Given the description of an element on the screen output the (x, y) to click on. 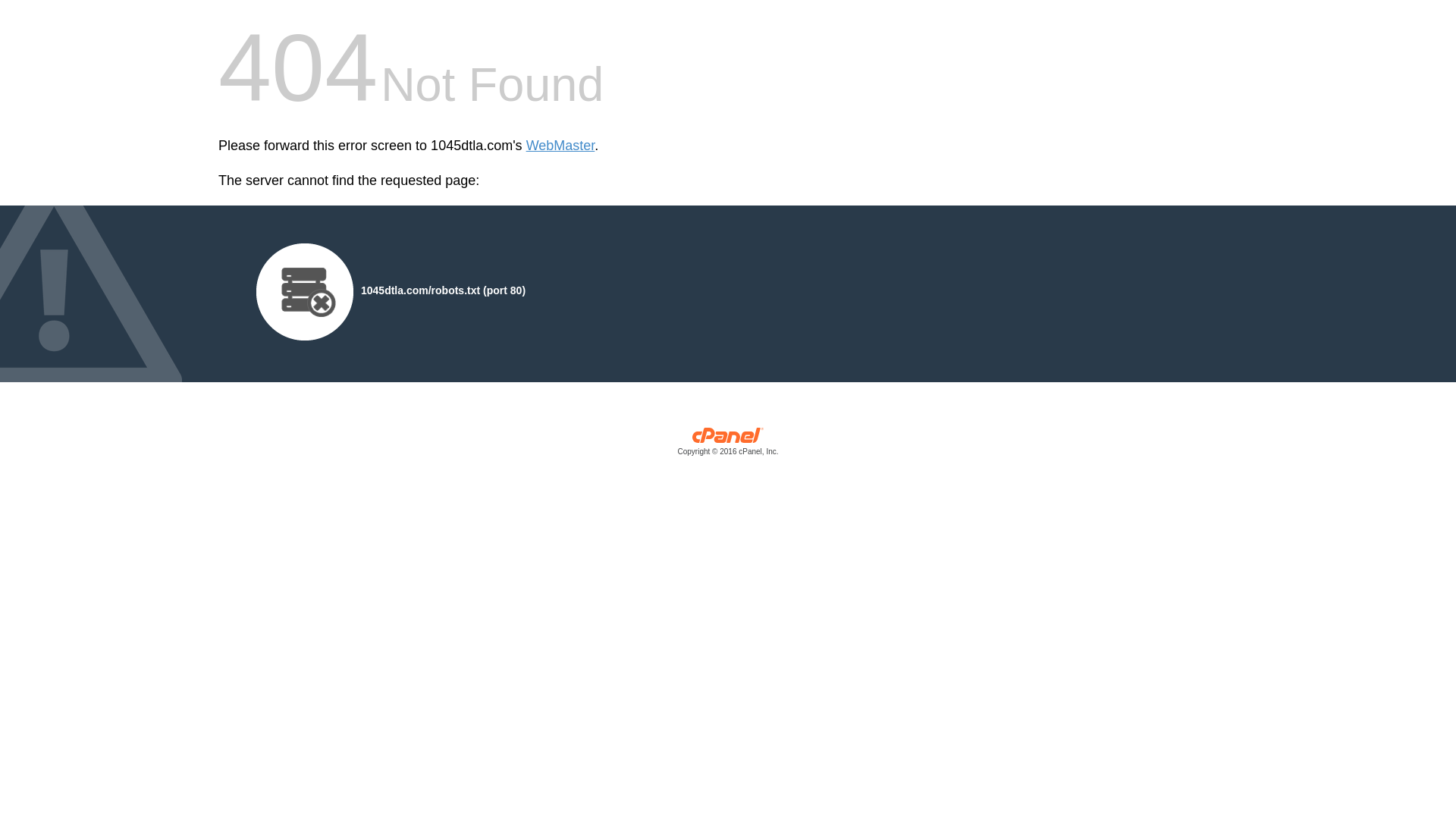
WebMaster Element type: text (560, 145)
